Given the description of an element on the screen output the (x, y) to click on. 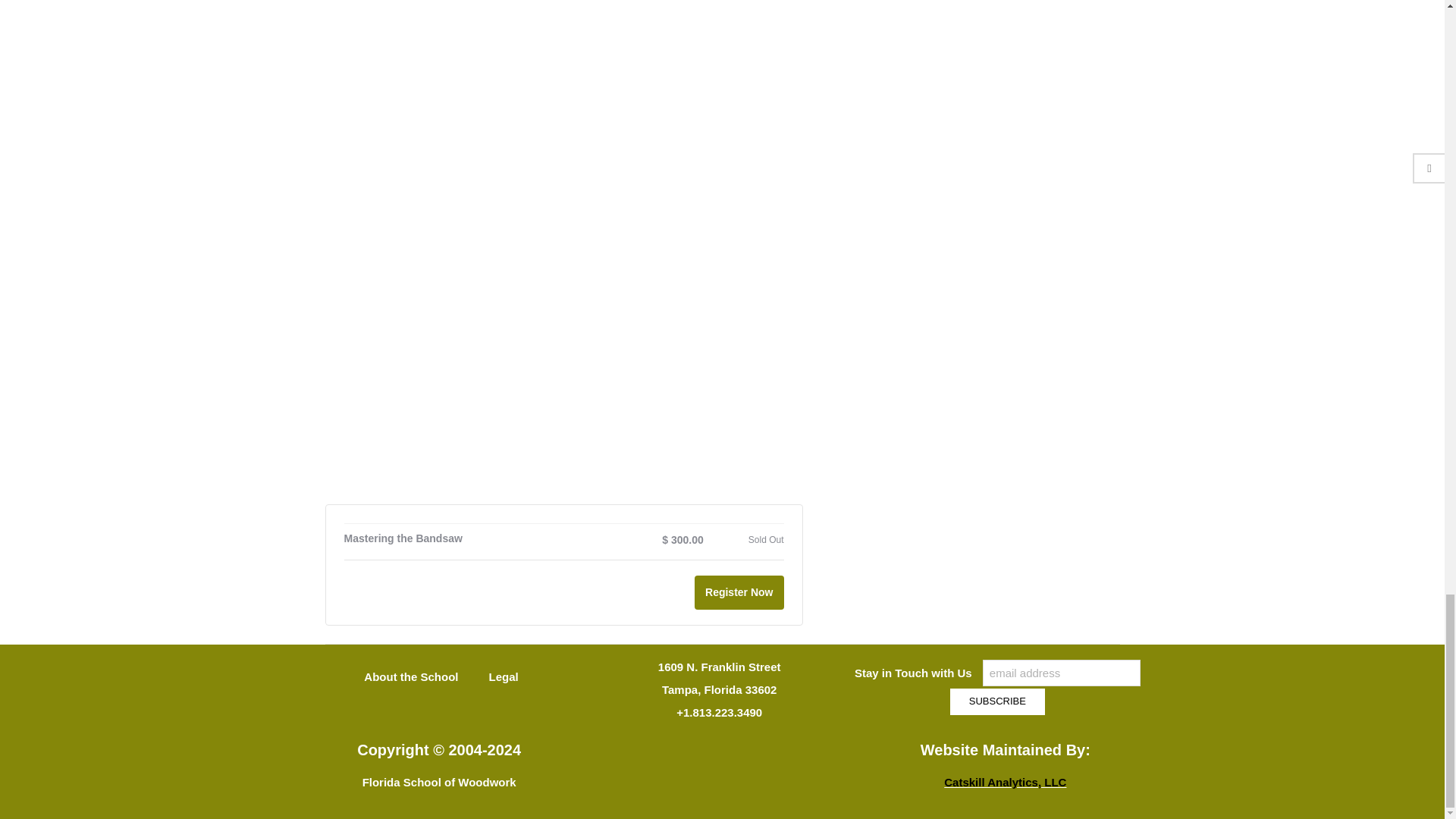
SUBSCRIBE (997, 701)
